Given the description of an element on the screen output the (x, y) to click on. 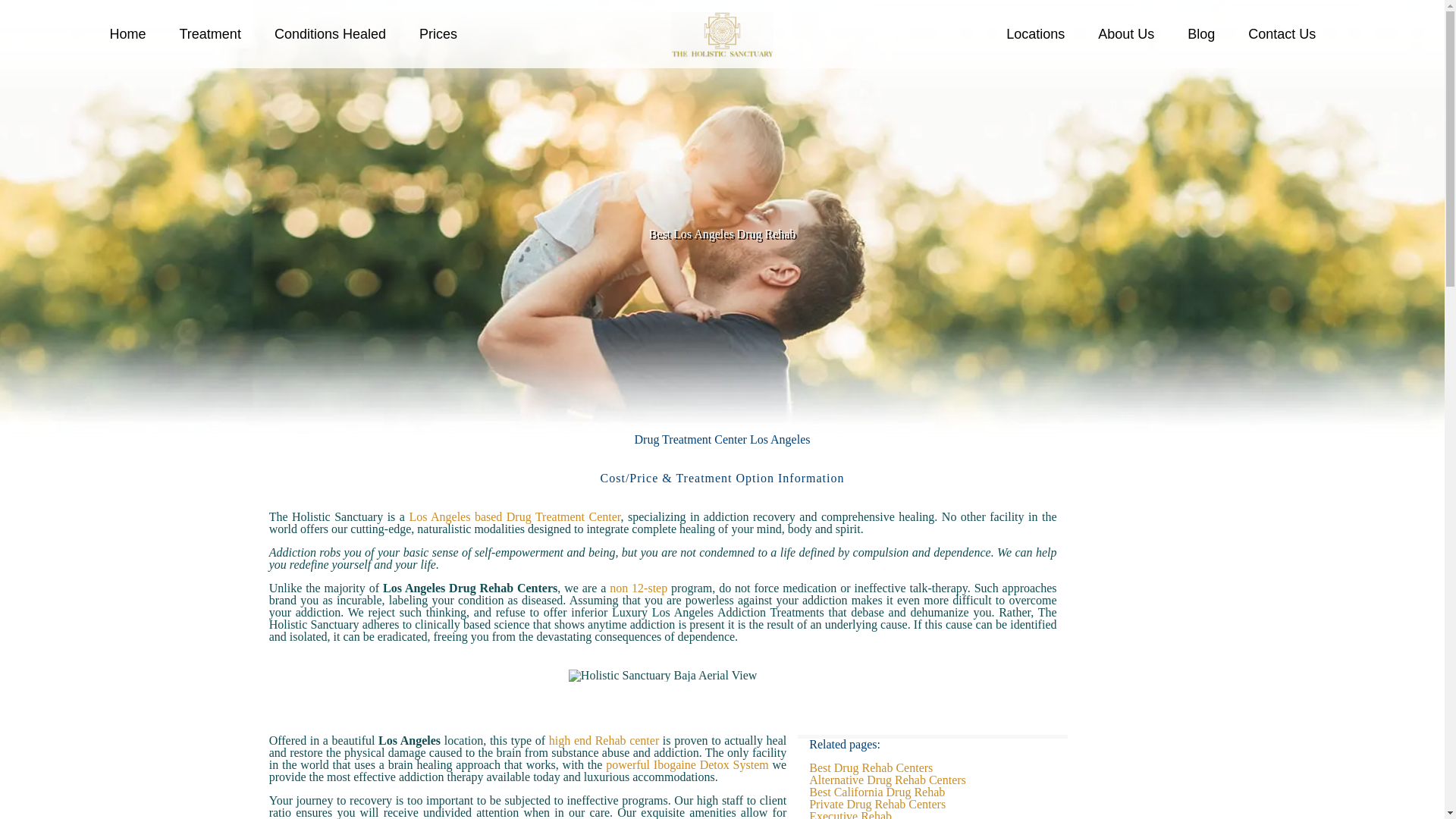
Treatment (210, 33)
non 12-step (638, 587)
About Us (1126, 33)
Home (127, 33)
Prices (437, 33)
Holistic Sanctuary Baja Aerial View (663, 675)
Los Angeles based Drug Treatment Center (514, 516)
Locations (1035, 33)
Contact Us (1281, 33)
Conditions Healed (330, 33)
The Holistic Sanctuary (721, 33)
